Given the description of an element on the screen output the (x, y) to click on. 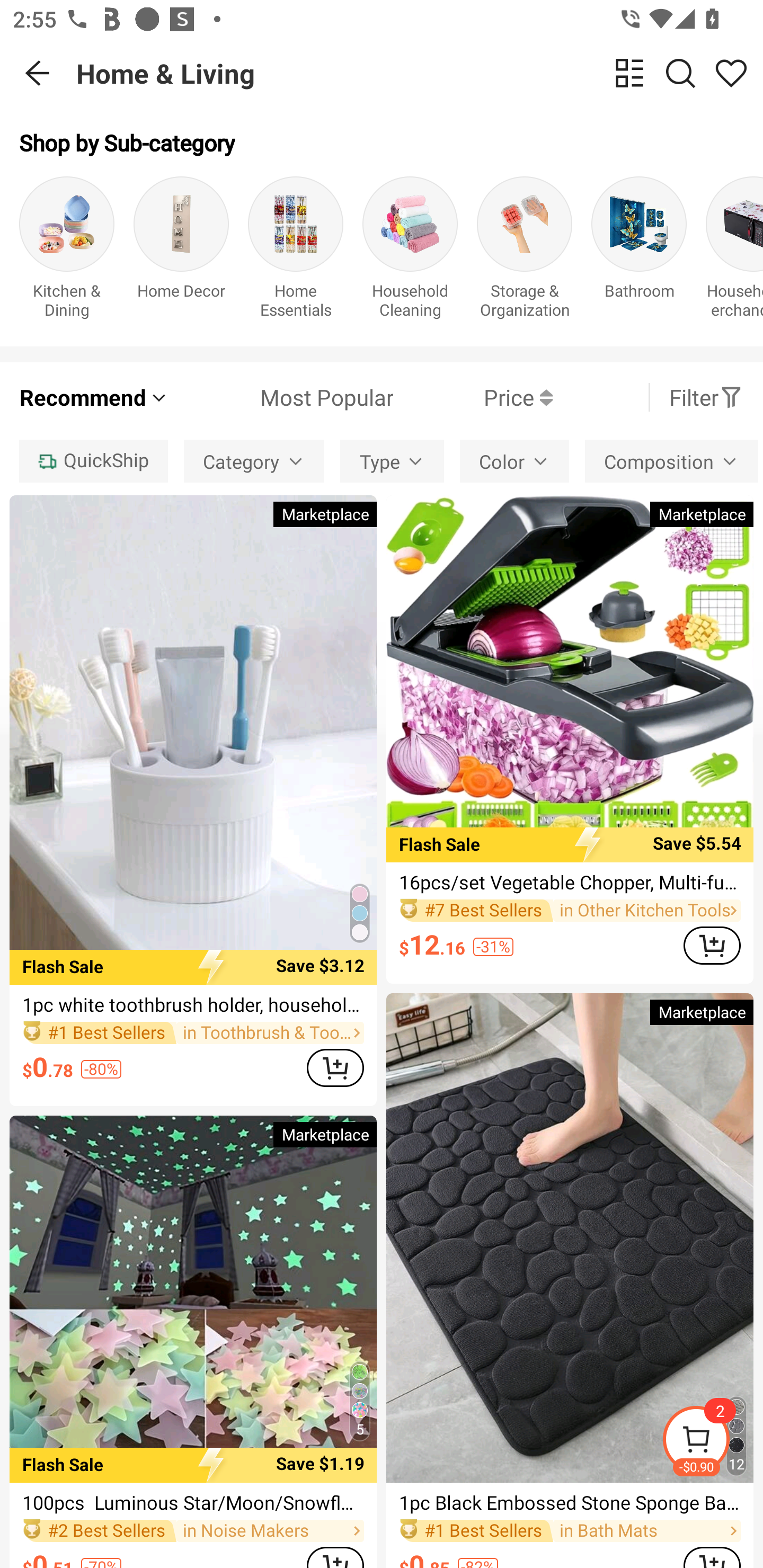
Home & Living change view Search Share (419, 72)
change view (629, 72)
Search (679, 72)
Share (730, 72)
Kitchen & Dining (66, 251)
Home Decor (180, 251)
Home Essentials (295, 251)
Household Cleaning (409, 251)
Storage & Organization (524, 251)
Bathroom (638, 251)
Recommend (94, 397)
Most Popular (280, 397)
Price (472, 397)
Filter (705, 397)
QuickShip (93, 460)
Category (253, 460)
Type (392, 460)
Color (514, 460)
Composition (671, 460)
#7 Best Sellers in Other Kitchen Tools (569, 910)
ADD TO CART (711, 945)
#1 Best Sellers in Toothbrush & Toothpaste Holders (192, 1032)
ADD TO CART (334, 1067)
-$0.90 (712, 1441)
#2 Best Sellers in Noise Makers (192, 1529)
#1 Best Sellers in Bath Mats (569, 1529)
